Given the description of an element on the screen output the (x, y) to click on. 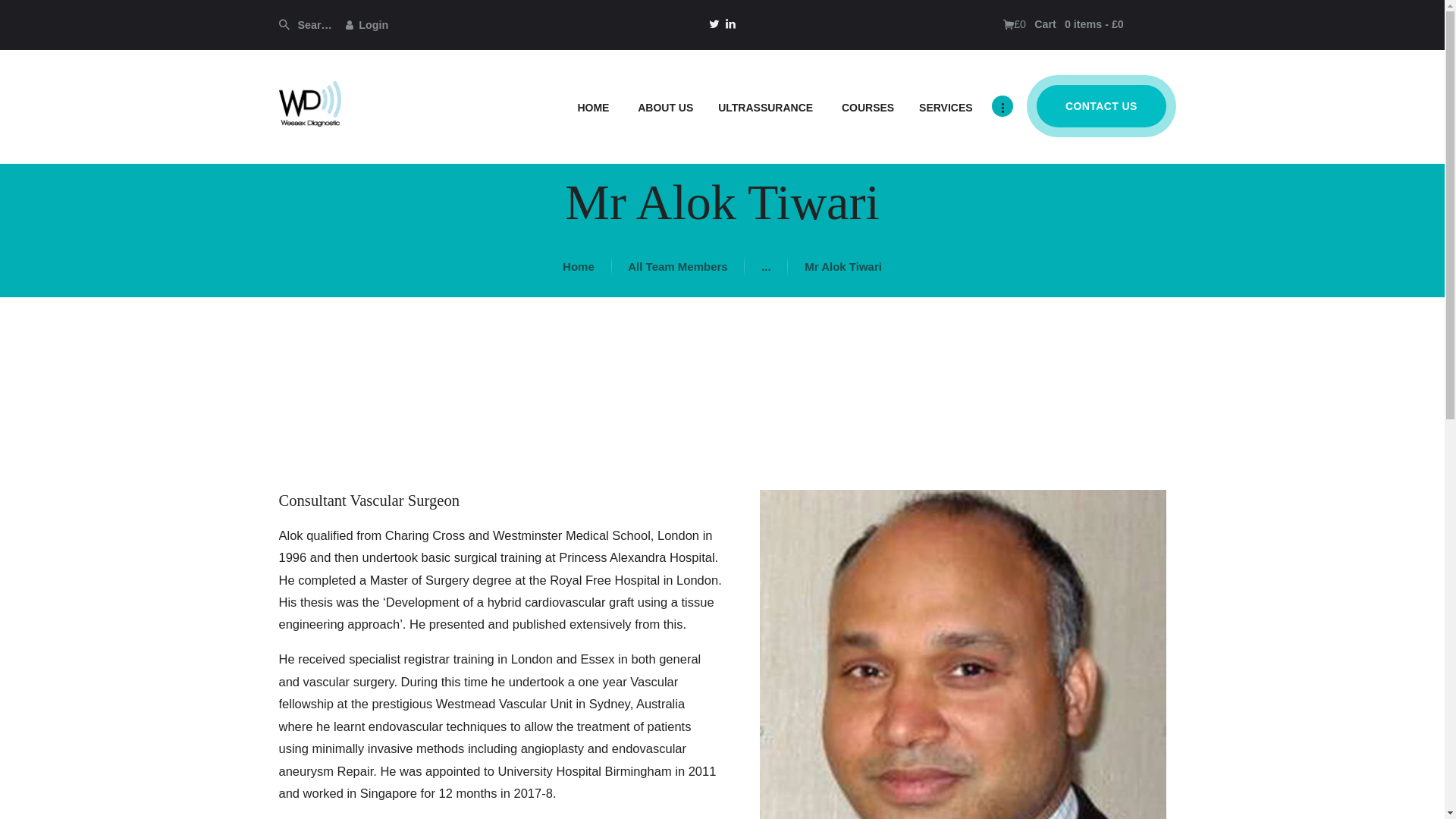
ABOUT US (663, 105)
COURSES (865, 105)
HOME (592, 105)
ULTRASSURANCE (765, 105)
SERVICES (943, 105)
Login (367, 24)
CONTACT US (1101, 105)
